Given the description of an element on the screen output the (x, y) to click on. 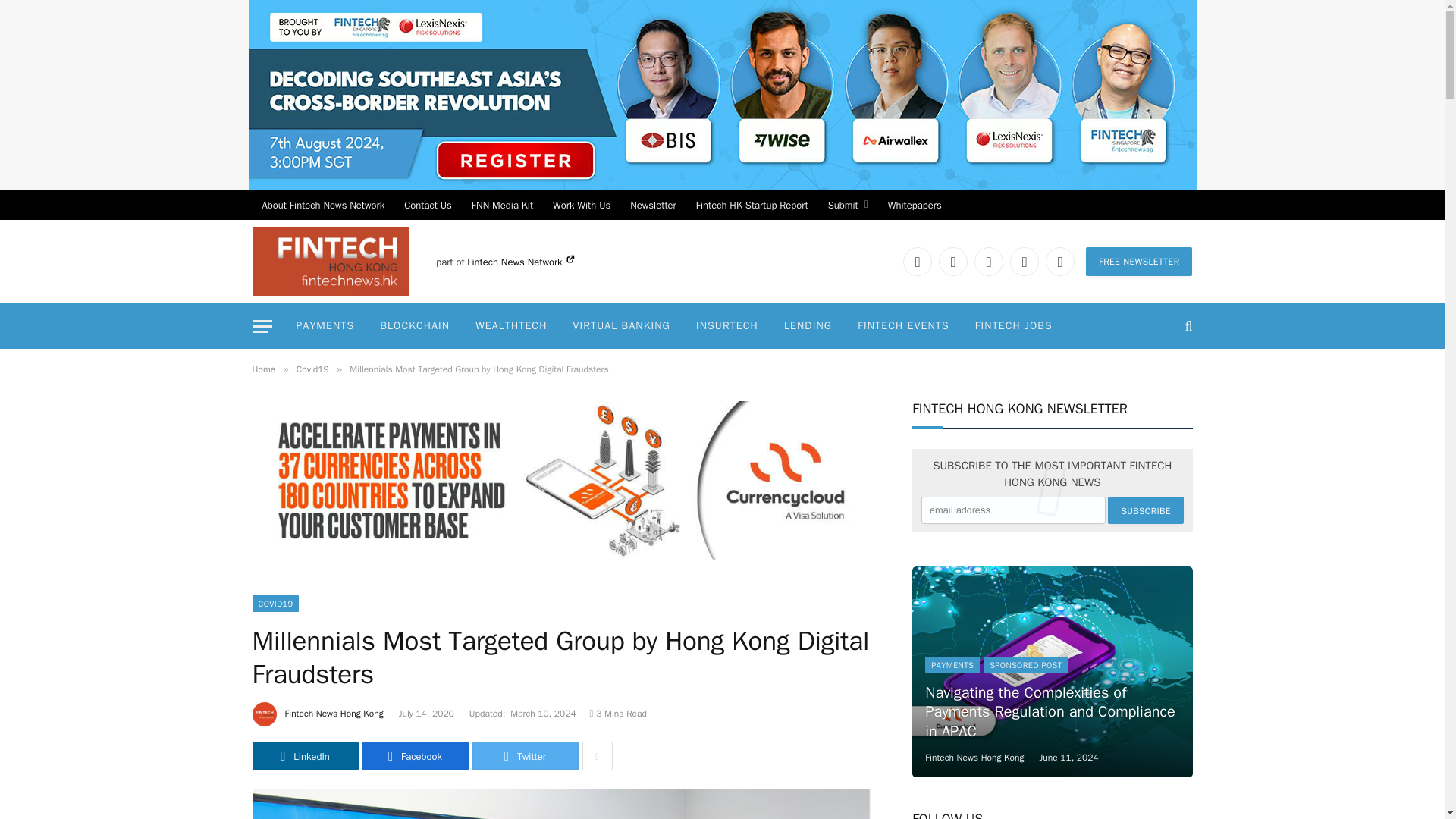
FNN Media Kit (502, 204)
Share on LinkedIn (304, 756)
Posts by Fintech News Hong Kong (334, 713)
Facebook (953, 261)
Submit (847, 204)
YouTube (1024, 261)
Contact Us (427, 204)
Subscribe (1145, 510)
Work With Us (581, 204)
Newsletter (652, 204)
Fintech HK Startup Report (751, 204)
Fintech Hong Kong (330, 261)
Fintech News Network (520, 261)
About Fintech News Network (322, 204)
